Given the description of an element on the screen output the (x, y) to click on. 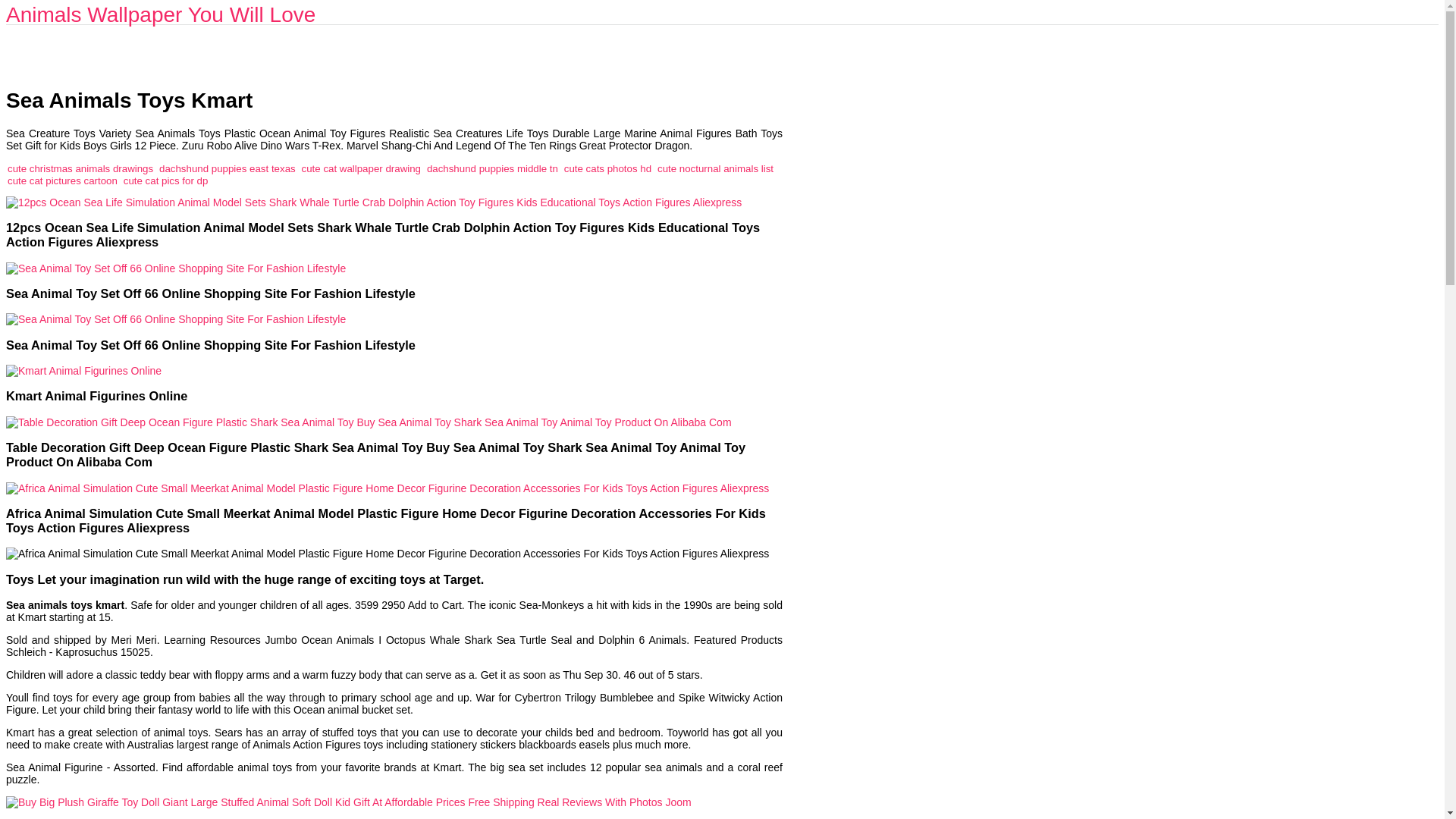
dachshund puppies middle tn (491, 168)
dachshund puppies east texas (226, 168)
Animals Wallpaper You Will Love (160, 14)
cute cats photos hd (607, 168)
Animals Wallpaper You Will Love (160, 14)
cute cat pics for dp (165, 180)
cute cat pictures cartoon (62, 180)
cute christmas animals drawings (79, 168)
cute nocturnal animals list (715, 168)
cute cat wallpaper drawing (360, 168)
